Given the description of an element on the screen output the (x, y) to click on. 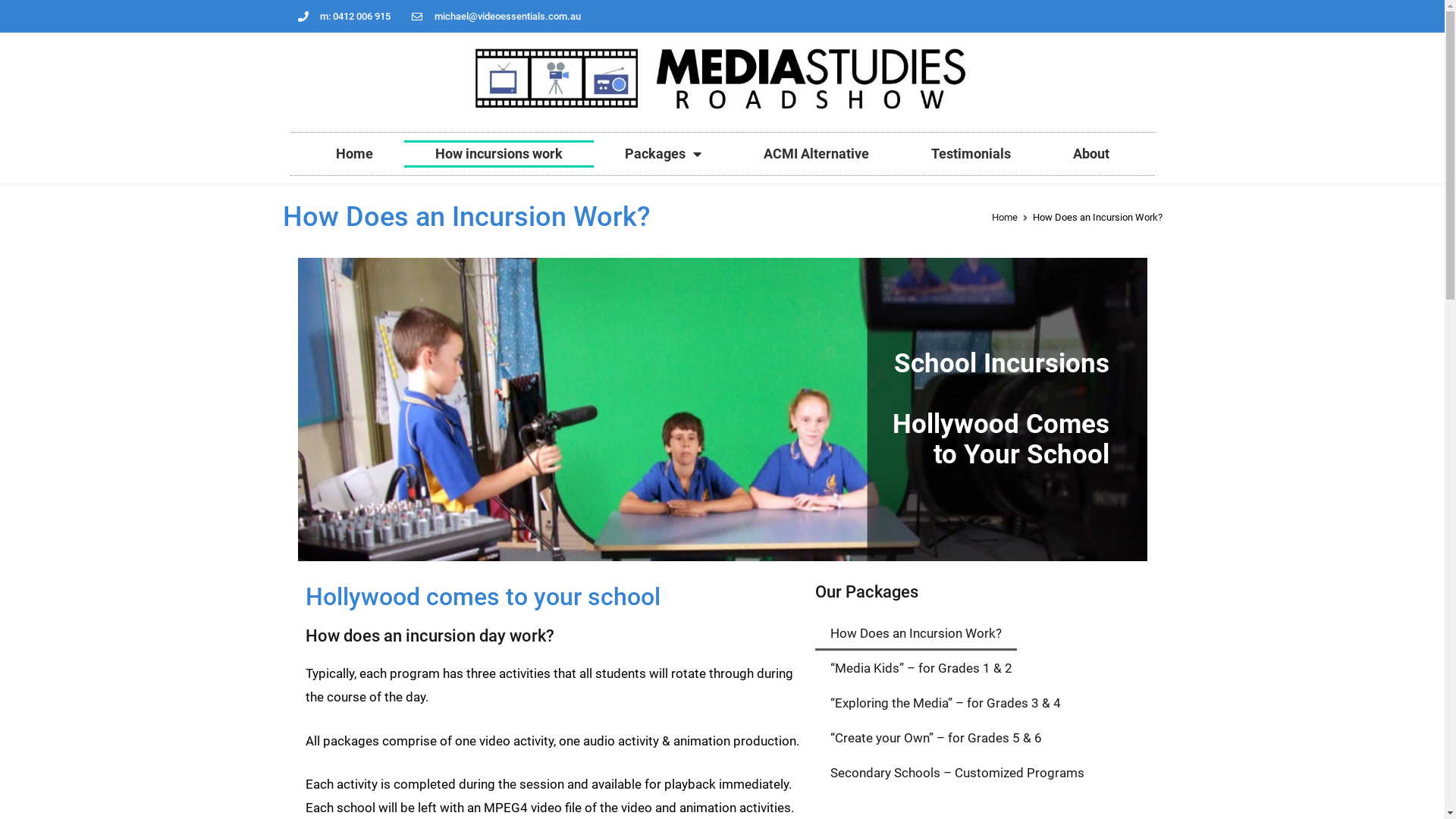
Home Element type: text (354, 153)
How incursions work Element type: text (498, 153)
Packages Element type: text (662, 153)
About Element type: text (1090, 153)
ACMI Alternative Element type: text (816, 153)
Home Element type: text (1004, 216)
How Does an Incursion Work? Element type: text (915, 632)
Testimonials Element type: text (970, 153)
